Given the description of an element on the screen output the (x, y) to click on. 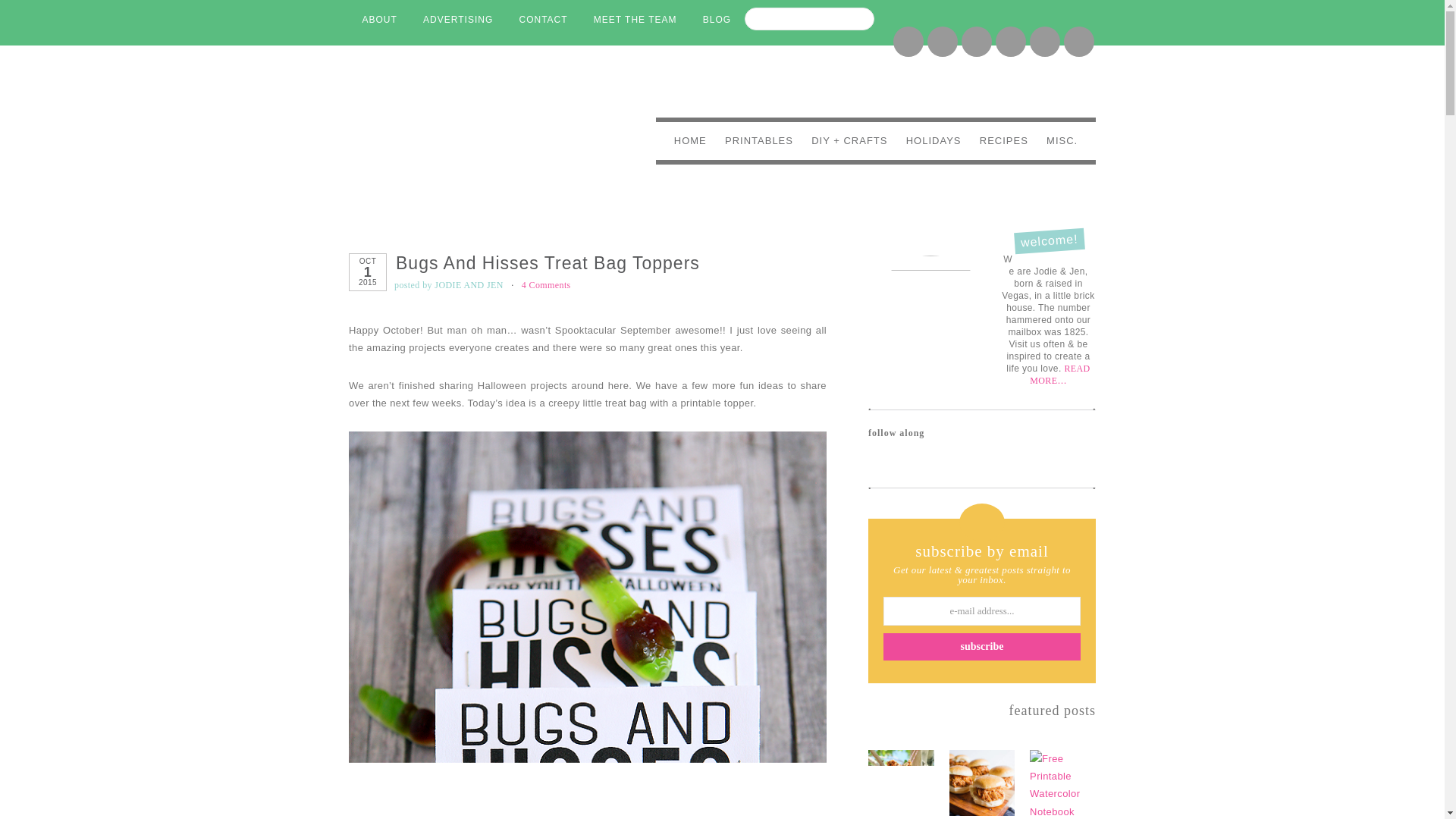
MISC. (1061, 140)
Pinterest (1044, 41)
CONTACT (542, 19)
Bloglovin (951, 435)
Twitter (881, 462)
BLOG (716, 19)
Instagram (1009, 41)
Instagram (1010, 41)
Bloglovin (908, 41)
HOME (690, 140)
Twitter (1077, 41)
Pinterest (1044, 41)
Bloglovin (908, 41)
JODIE AND JEN (468, 285)
